Given the description of an element on the screen output the (x, y) to click on. 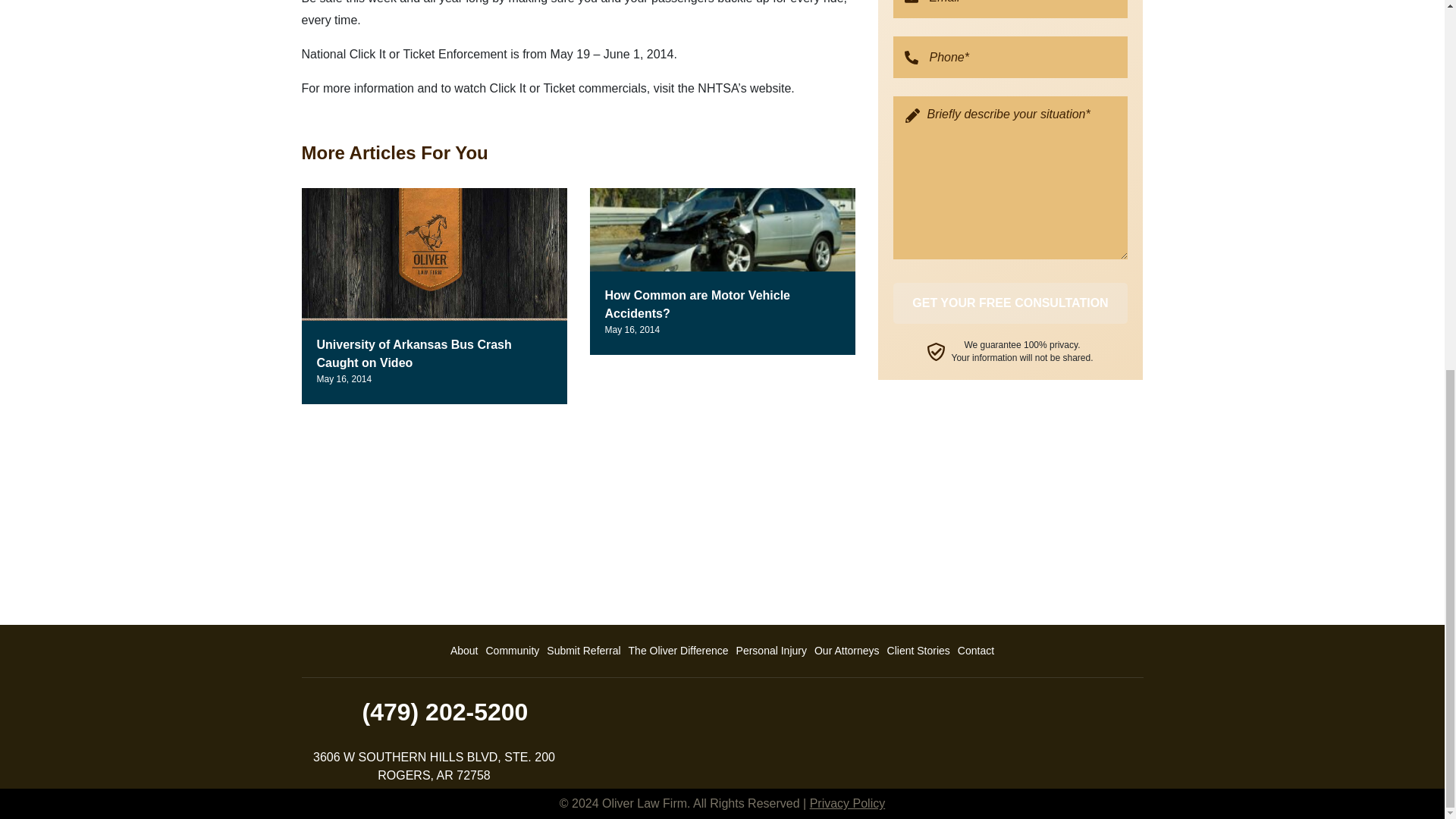
Get Your Free Consultation (1010, 302)
University of Arkansas Bus Crash Caught on Video (414, 353)
Contact (975, 650)
How Common are Motor Vehicle Accidents? (697, 304)
Personal Injury (771, 650)
Get Your Free Consultation (1010, 302)
Submit Referral (583, 650)
About (463, 650)
The Oliver Difference (678, 650)
Community (512, 650)
